Given the description of an element on the screen output the (x, y) to click on. 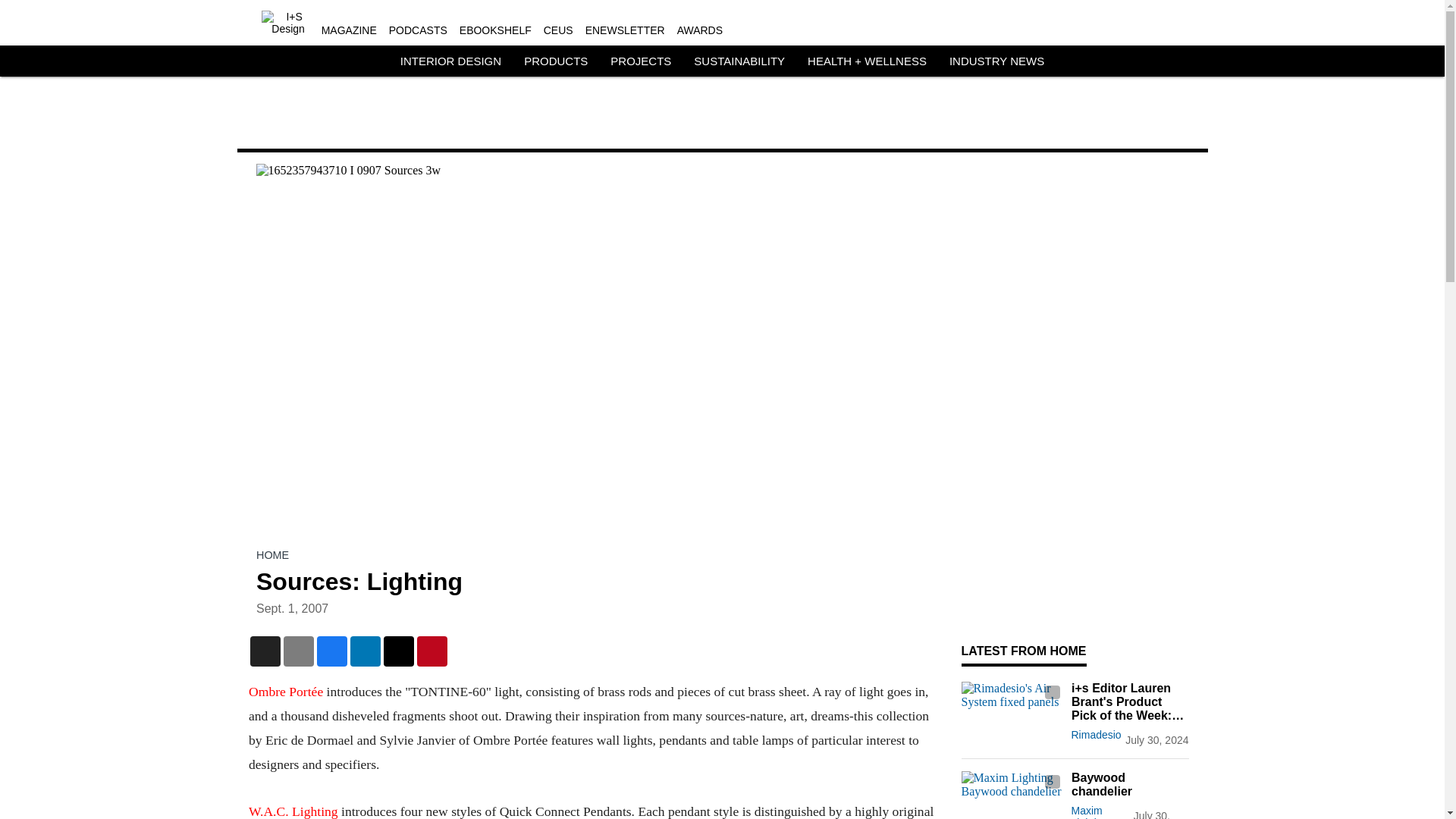
Rimadesio (1095, 734)
PODCASTS (417, 30)
ENEWSLETTER (625, 30)
AWARDS (699, 30)
SUSTAINABILITY (739, 60)
EBOOKSHELF (495, 30)
Maxim Lighting Baywood chandelier (1012, 795)
Rimadesio's Air System fixed panels (1012, 709)
INDUSTRY NEWS (996, 60)
Baywood chandelier (1129, 784)
Maxim Lighting (1089, 811)
INTERIOR DESIGN (450, 60)
CEUS (558, 30)
MAGAZINE (349, 30)
